Given the description of an element on the screen output the (x, y) to click on. 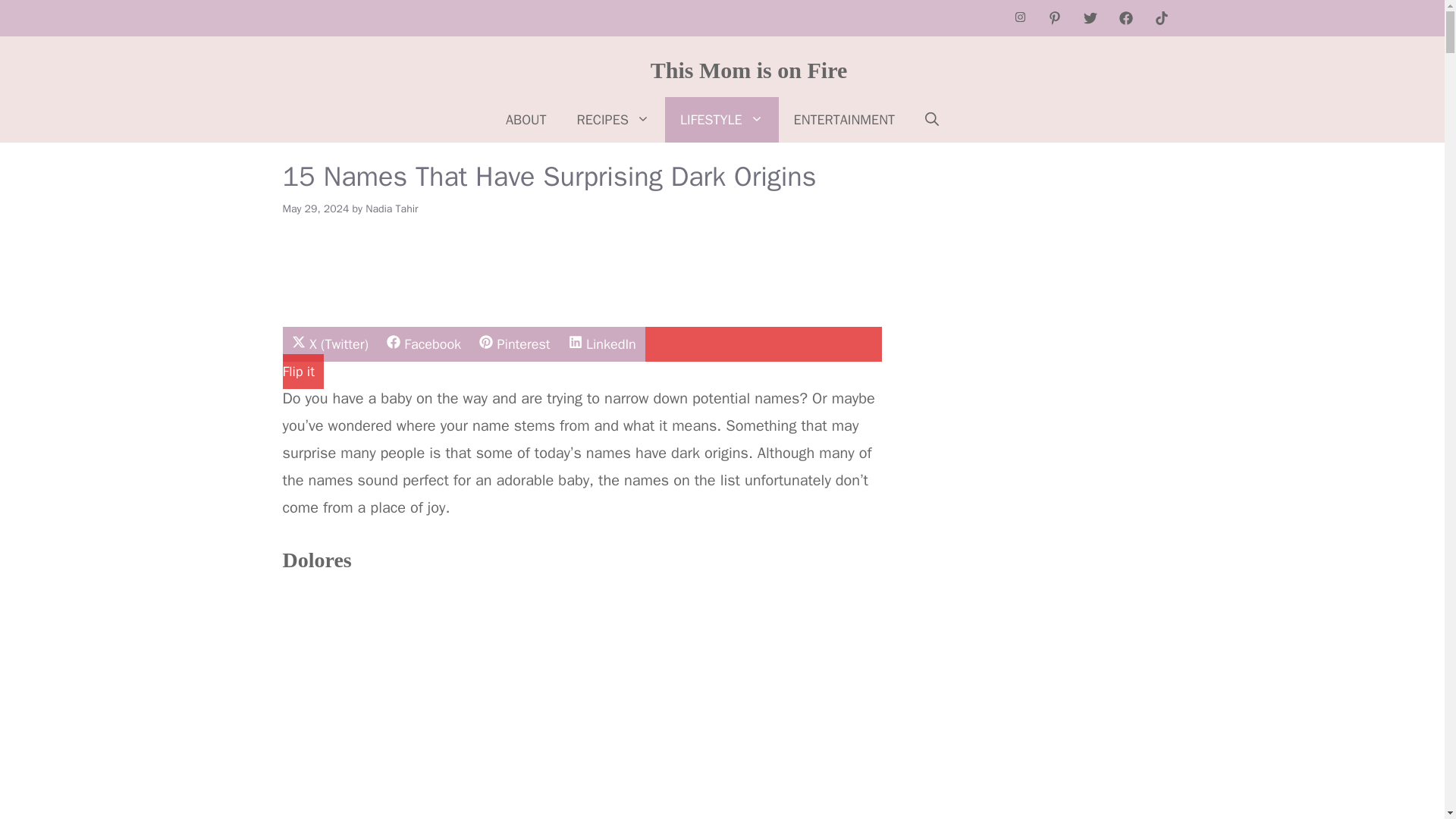
LIFESTYLE (721, 119)
View all posts by Nadia Tahir (391, 208)
RECIPES (613, 119)
Nadia Tahir (391, 208)
flipboard (659, 241)
ABOUT (526, 119)
This Mom is on Fire (748, 69)
ENTERTAINMENT (423, 343)
